Given the description of an element on the screen output the (x, y) to click on. 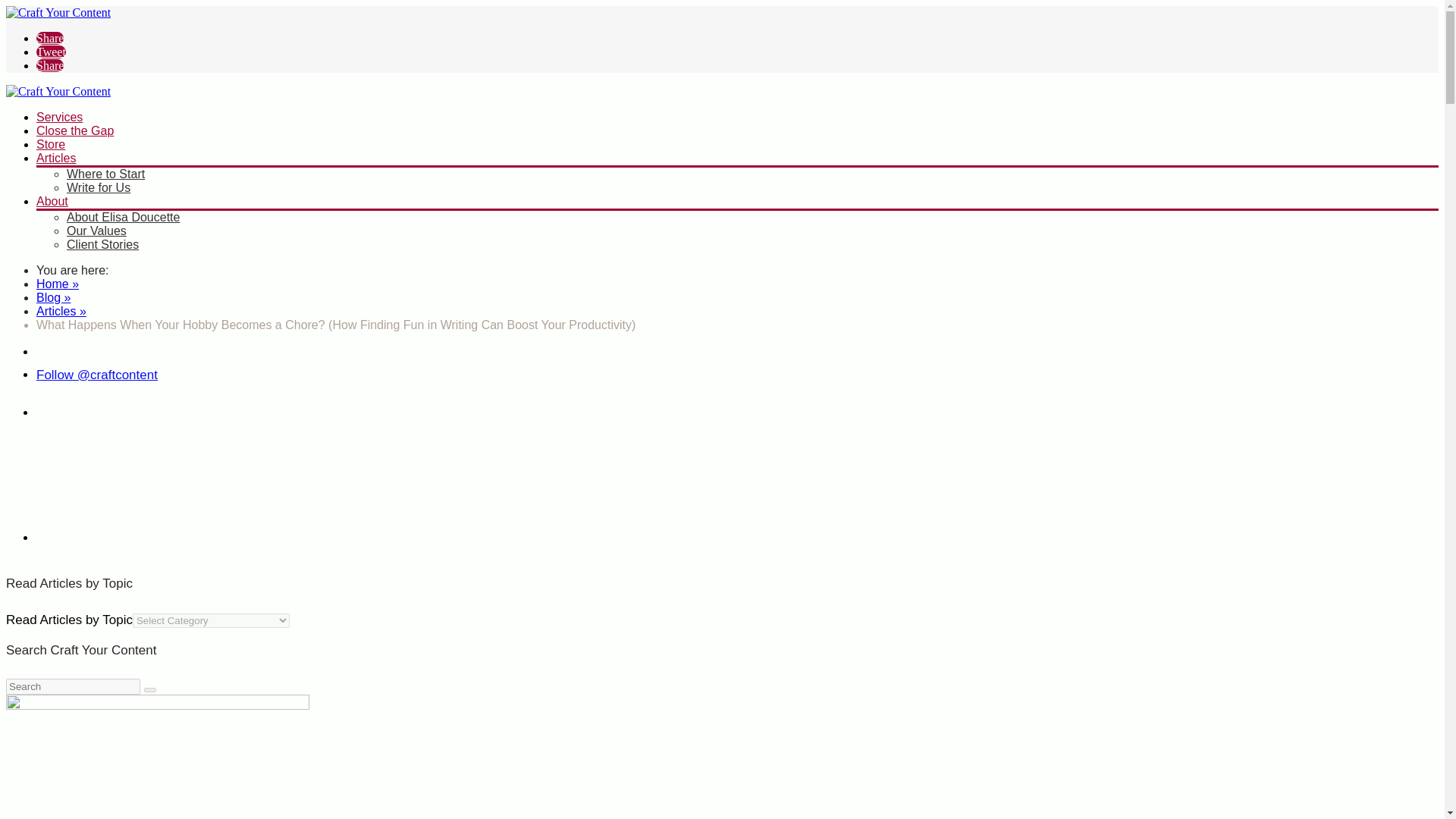
Tweet (50, 51)
Share (50, 65)
Client Stories (102, 244)
About Elisa Doucette (122, 216)
Where to Start (105, 173)
Store (50, 144)
Close the Gap (74, 130)
Share (50, 38)
Write for Us (98, 187)
Articles (55, 157)
Services (59, 116)
Our Values (96, 230)
About (52, 201)
